Given the description of an element on the screen output the (x, y) to click on. 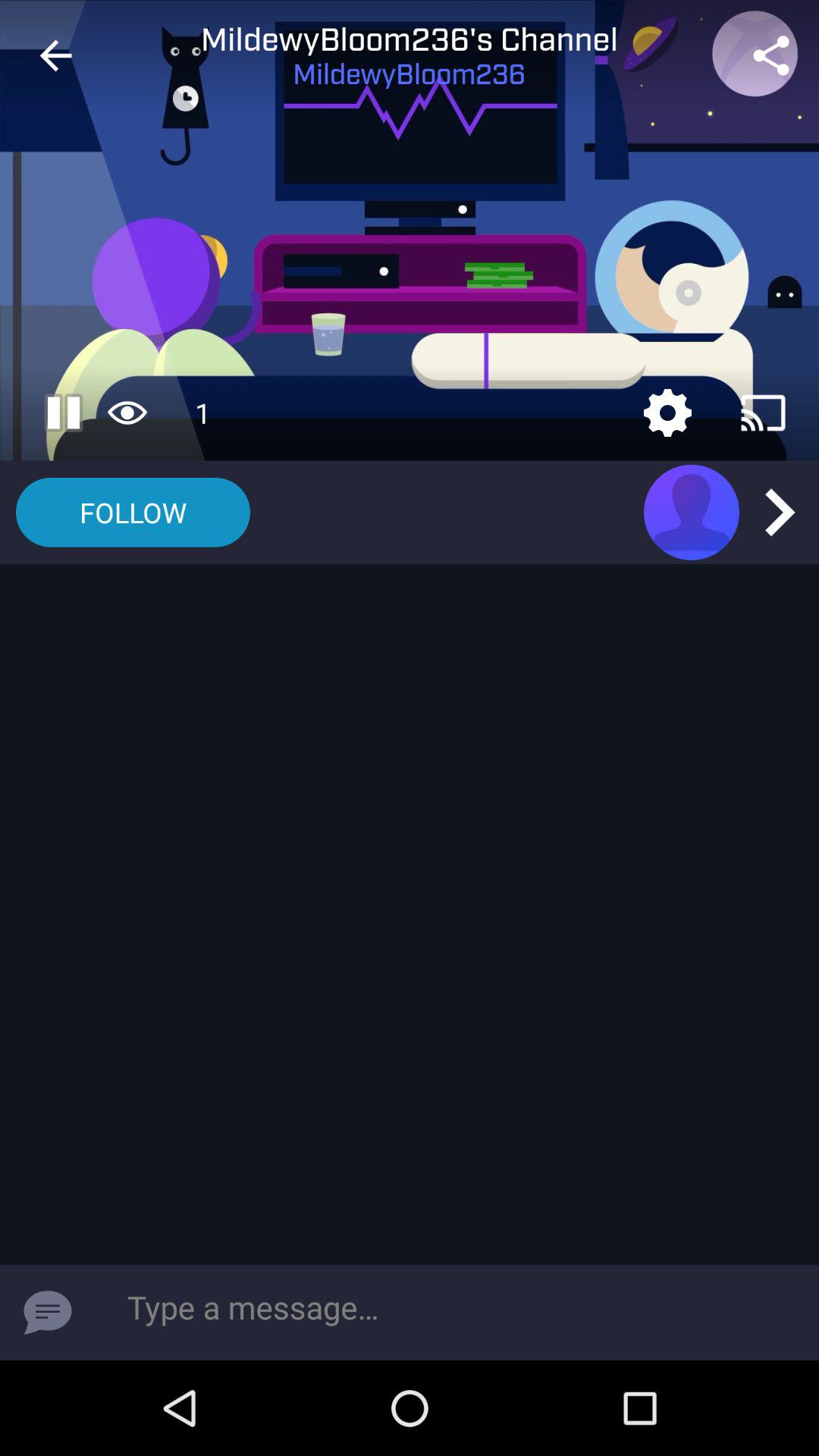
message (47, 1312)
